Given the description of an element on the screen output the (x, y) to click on. 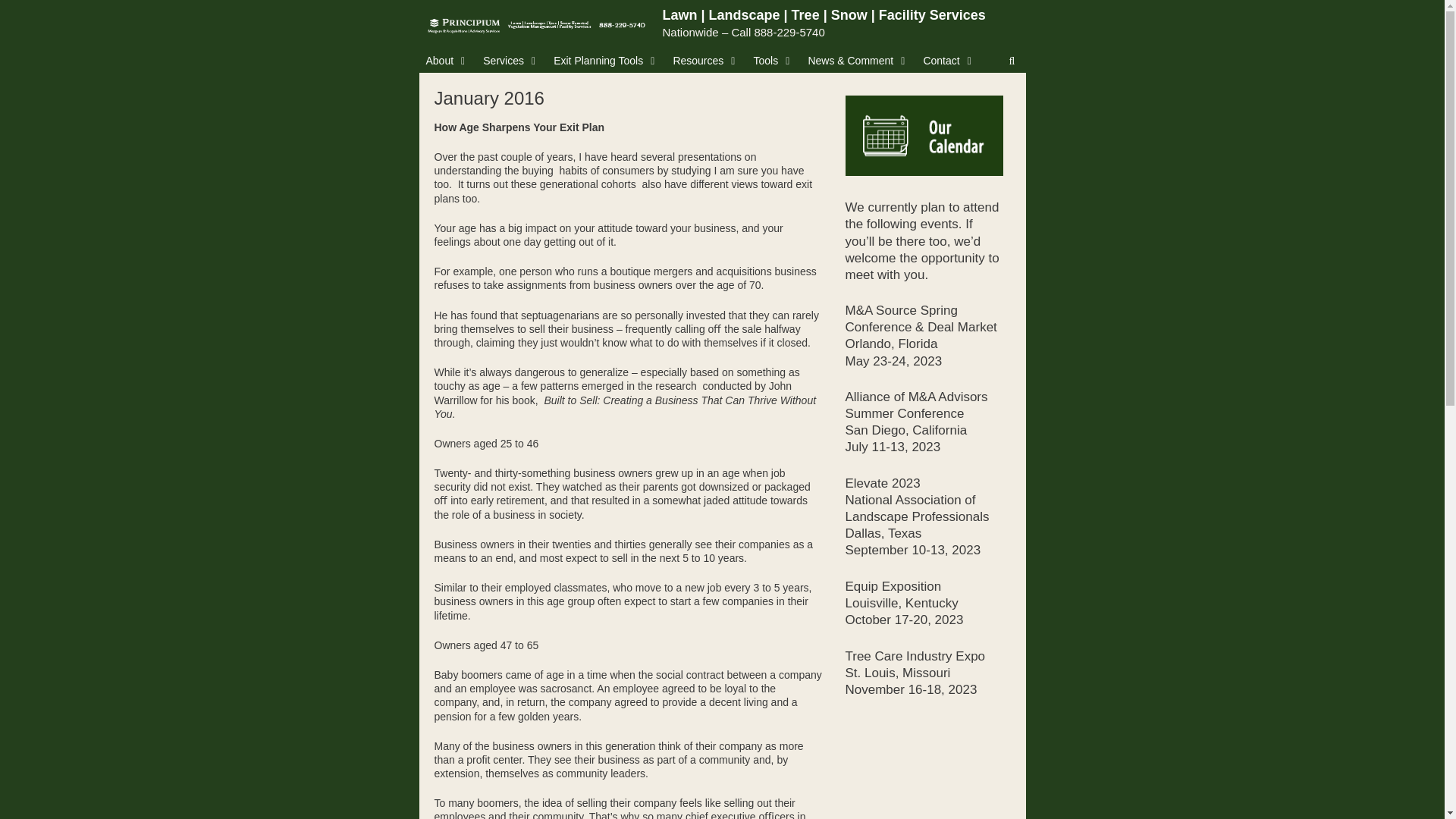
Services (511, 60)
Exit Planning Tools (606, 60)
About (447, 60)
